Given the description of an element on the screen output the (x, y) to click on. 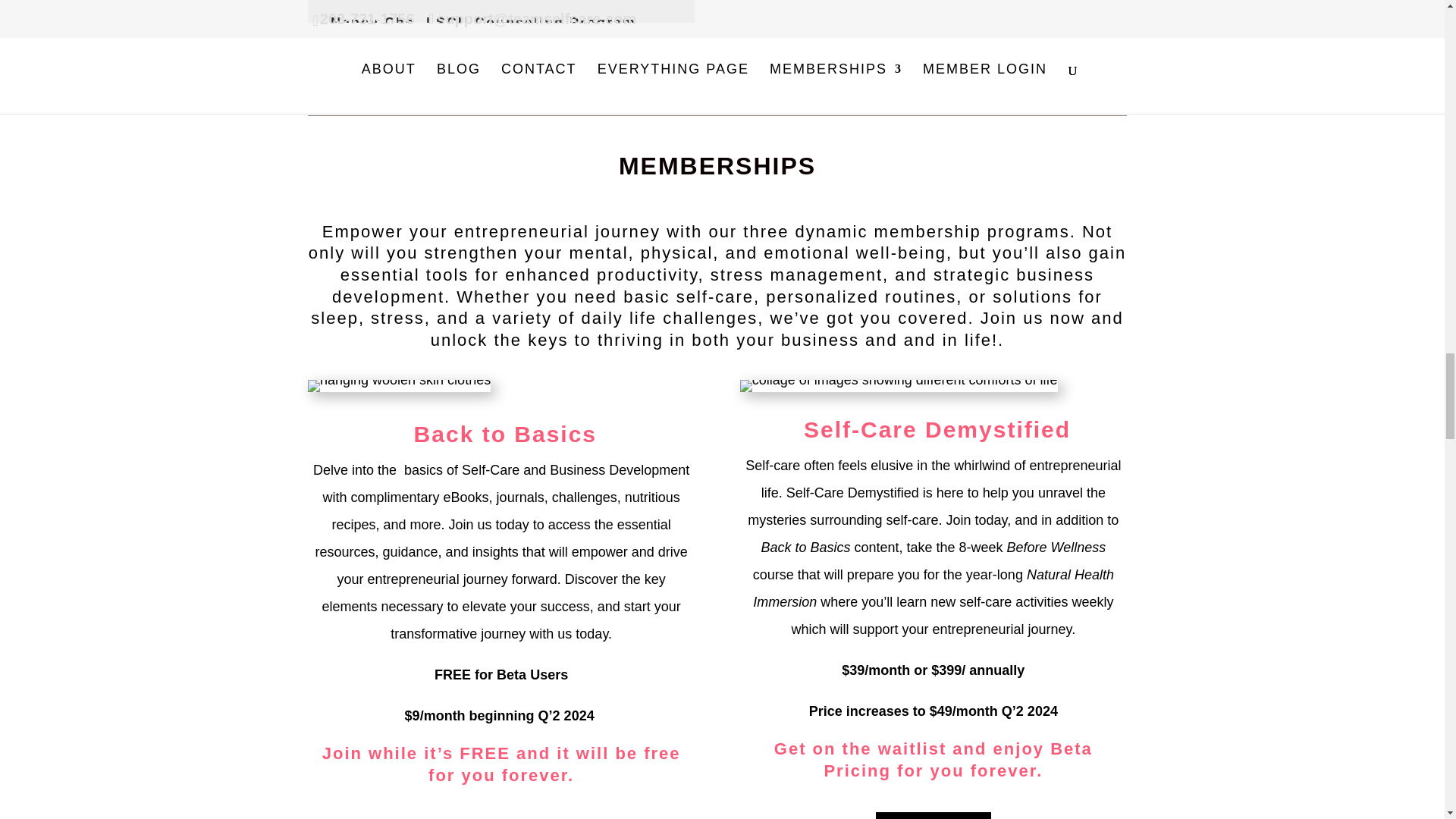
Memberships-Header-Images (898, 386)
woolen clothes in hanger (398, 386)
Join Waitlist! (933, 815)
